Given the description of an element on the screen output the (x, y) to click on. 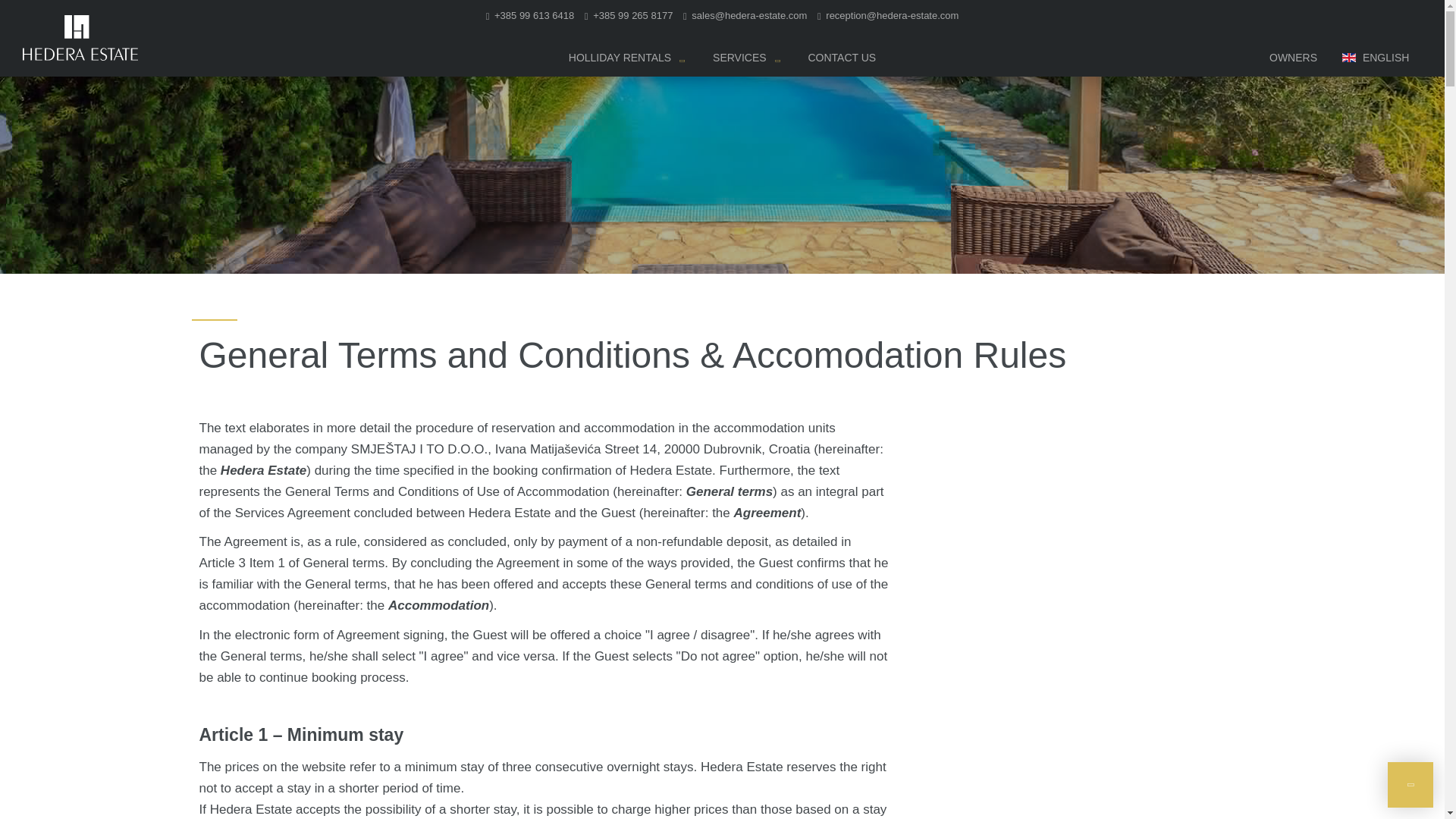
CONTACT US (842, 60)
OWNERS (1293, 60)
SERVICES (746, 60)
HOLLIDAY RENTALS (626, 60)
